Given the description of an element on the screen output the (x, y) to click on. 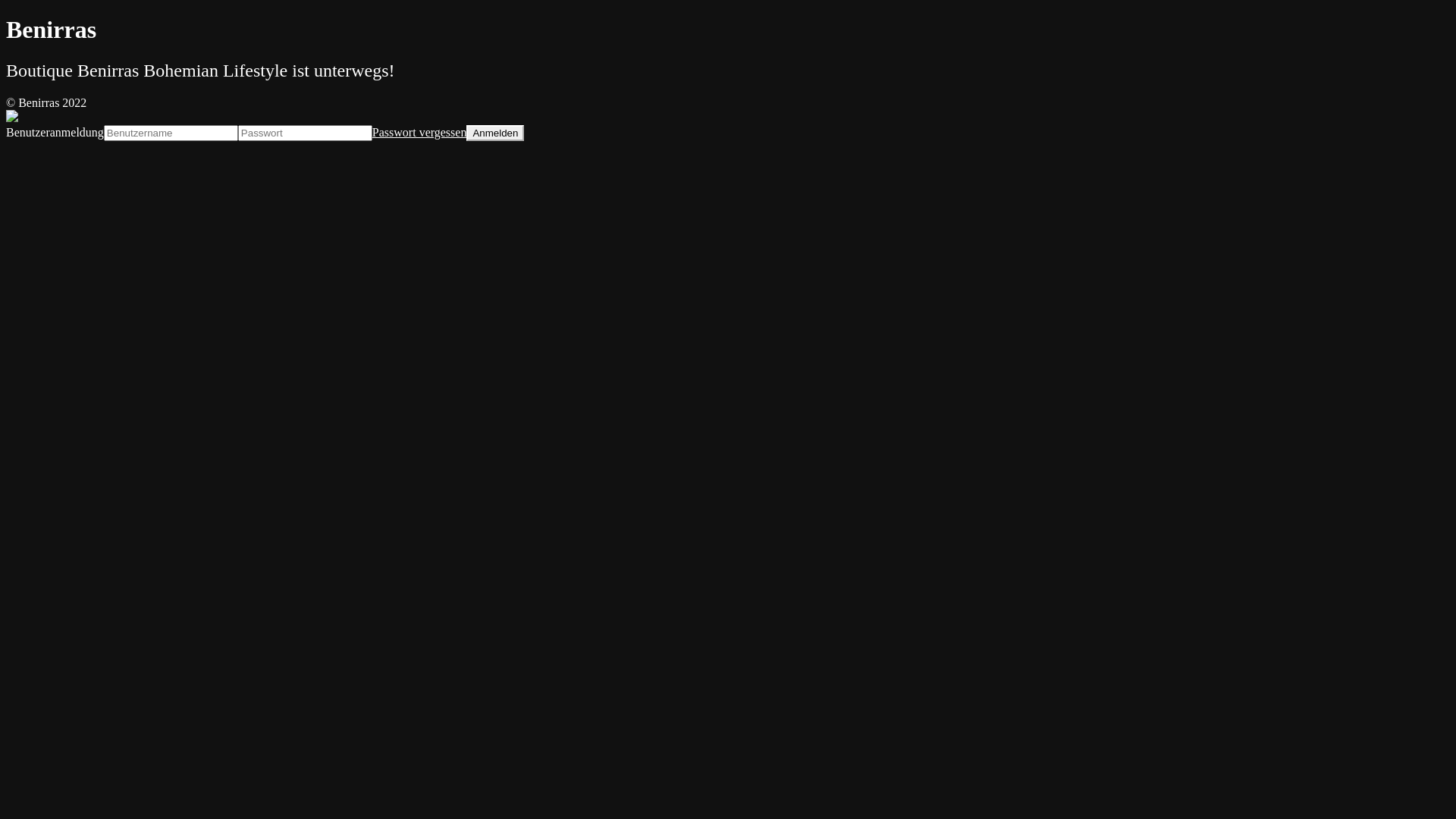
Passwort vergessen Element type: text (419, 131)
Anmelden Element type: text (495, 133)
